Given the description of an element on the screen output the (x, y) to click on. 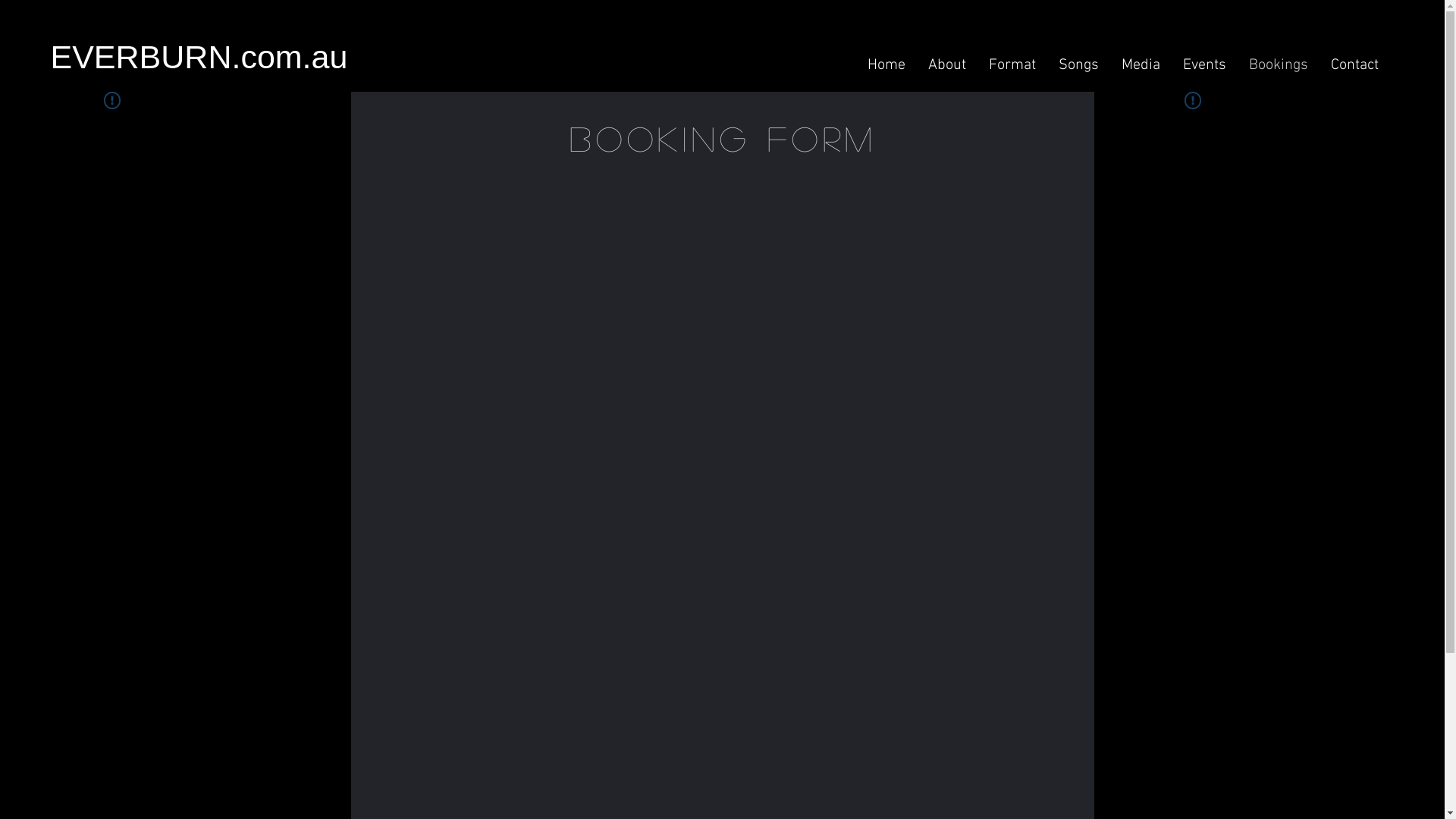
Songs Element type: text (1077, 65)
Contact Element type: text (1354, 65)
About Element type: text (946, 65)
Bookings Element type: text (1278, 65)
EVERBURN.com.au Element type: text (389, 56)
Home Element type: text (885, 65)
